Given the description of an element on the screen output the (x, y) to click on. 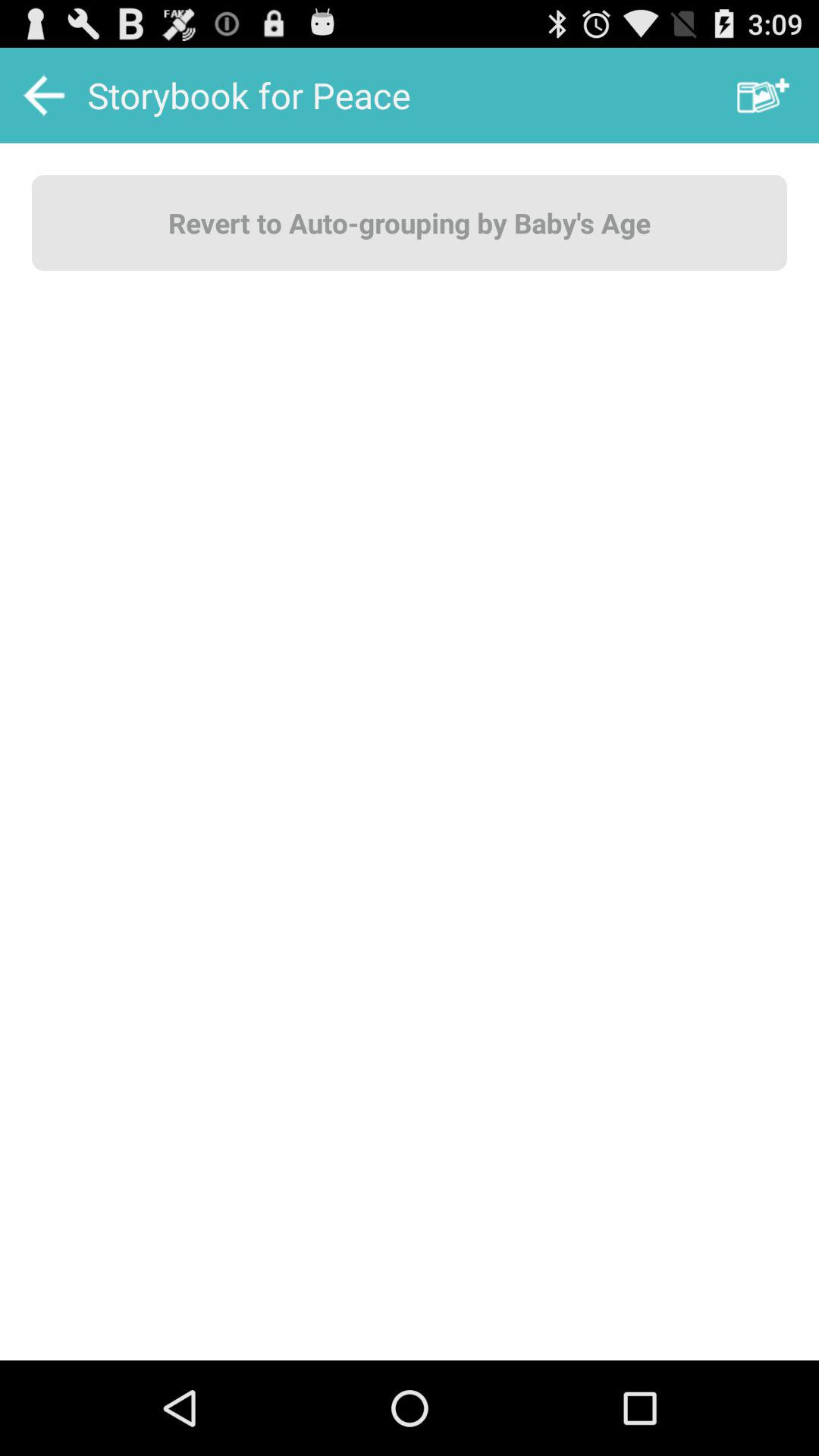
open item above revert to auto item (763, 95)
